Given the description of an element on the screen output the (x, y) to click on. 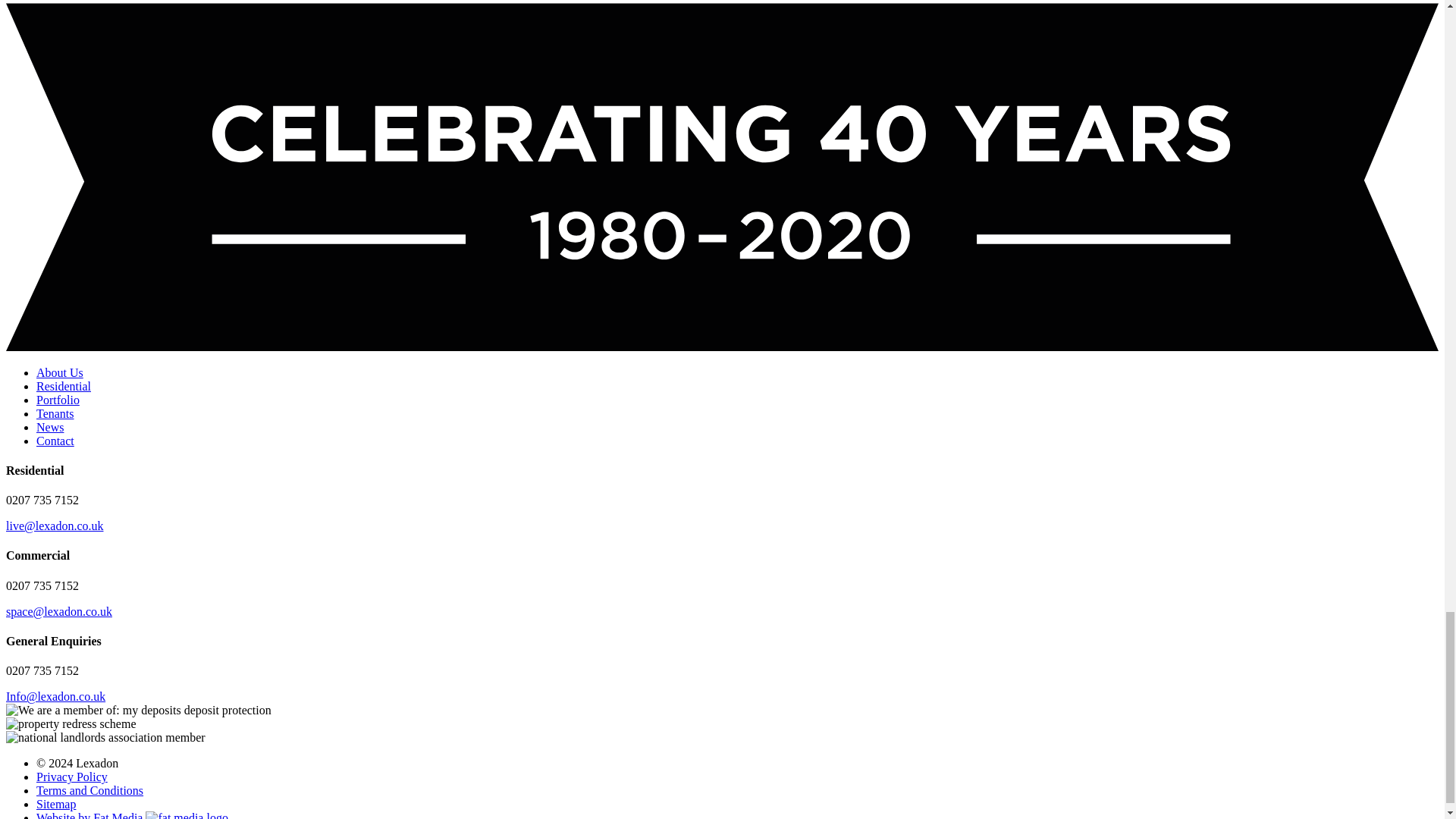
About Us (59, 371)
Tenants (55, 412)
Privacy Policy (71, 776)
Portfolio (58, 399)
Terms and Conditions (89, 789)
Sitemap (55, 803)
Residential (63, 385)
Contact (55, 440)
News (50, 426)
